Given the description of an element on the screen output the (x, y) to click on. 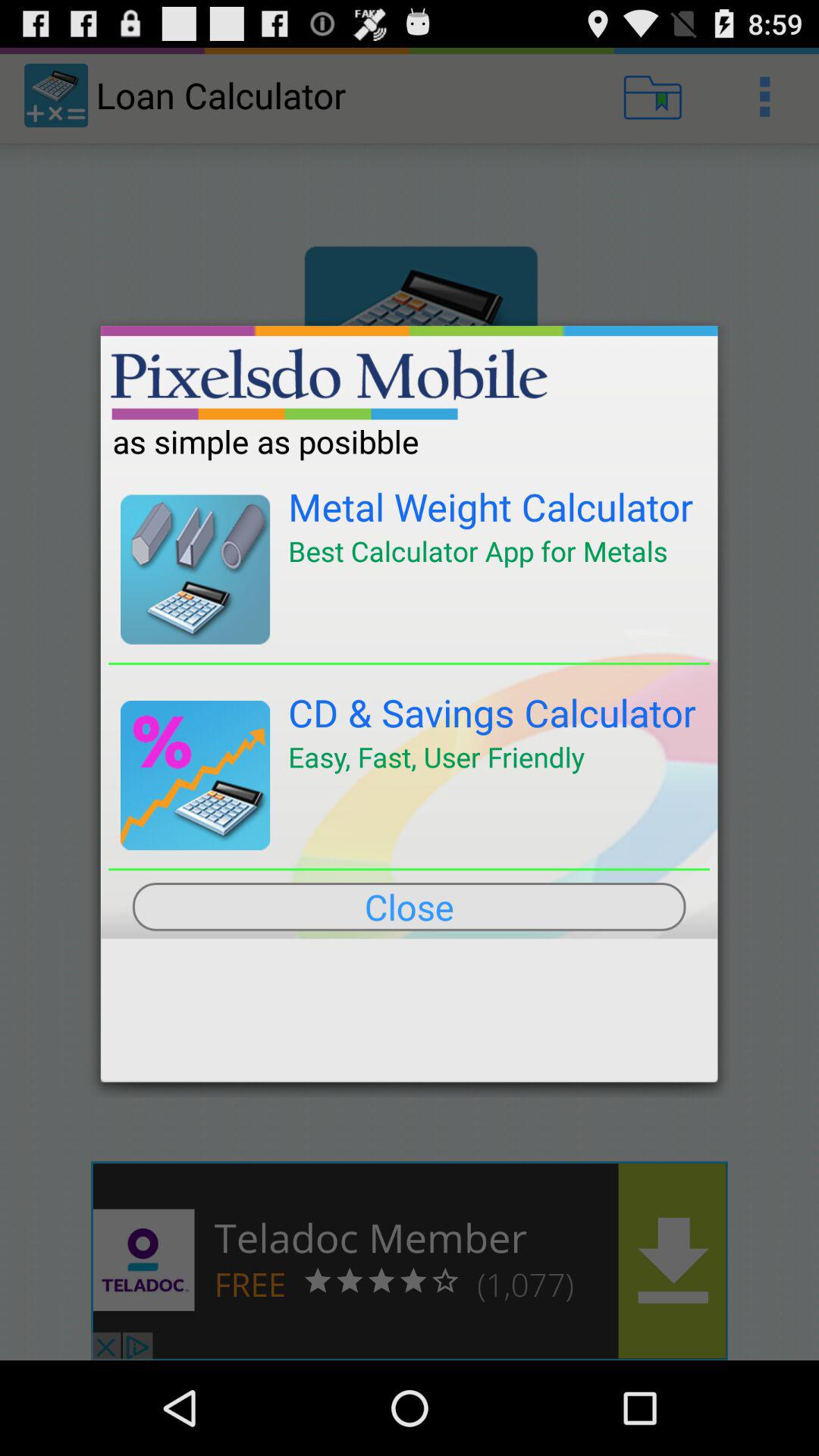
scroll to best calculator app icon (477, 550)
